Given the description of an element on the screen output the (x, y) to click on. 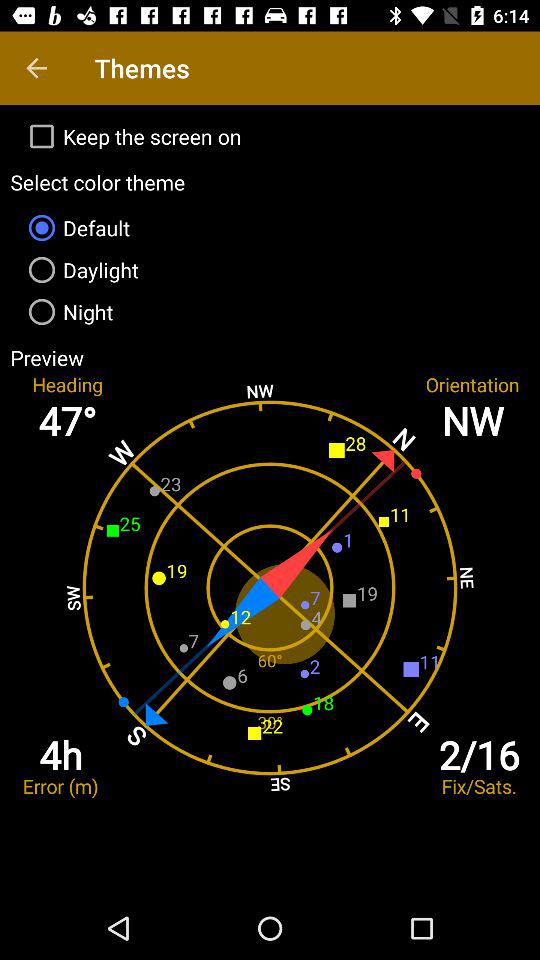
swipe to default icon (270, 228)
